Given the description of an element on the screen output the (x, y) to click on. 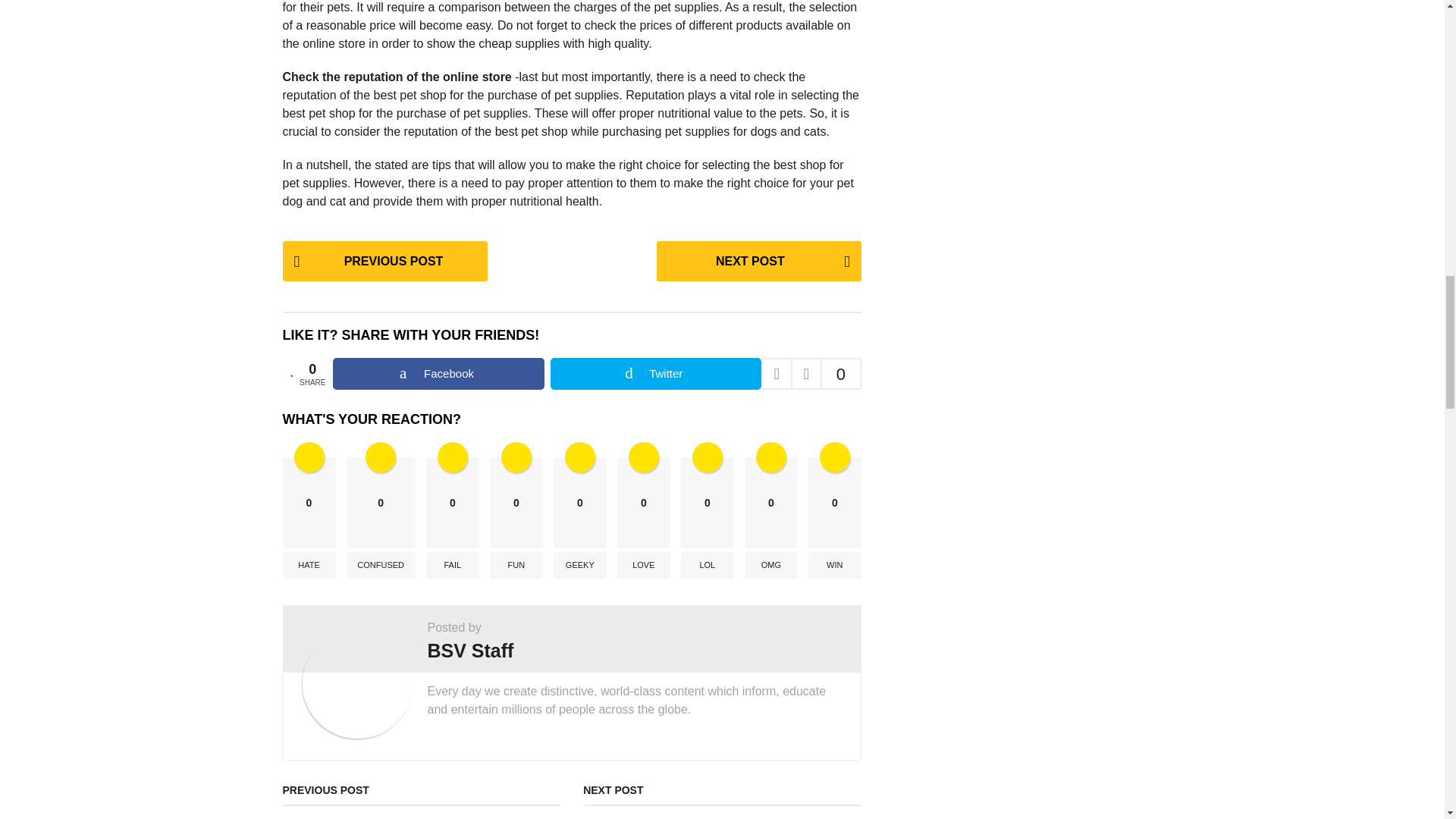
LOVE (643, 565)
PREVIOUS POST (384, 260)
HATE (308, 565)
Share on Facebook (438, 373)
Facebook (438, 373)
Twitter (655, 373)
CONFUSED (380, 565)
FAIL (452, 565)
Share on Twitter (655, 373)
FUN (516, 565)
GEEKY (580, 565)
NEXT POST (758, 260)
